Given the description of an element on the screen output the (x, y) to click on. 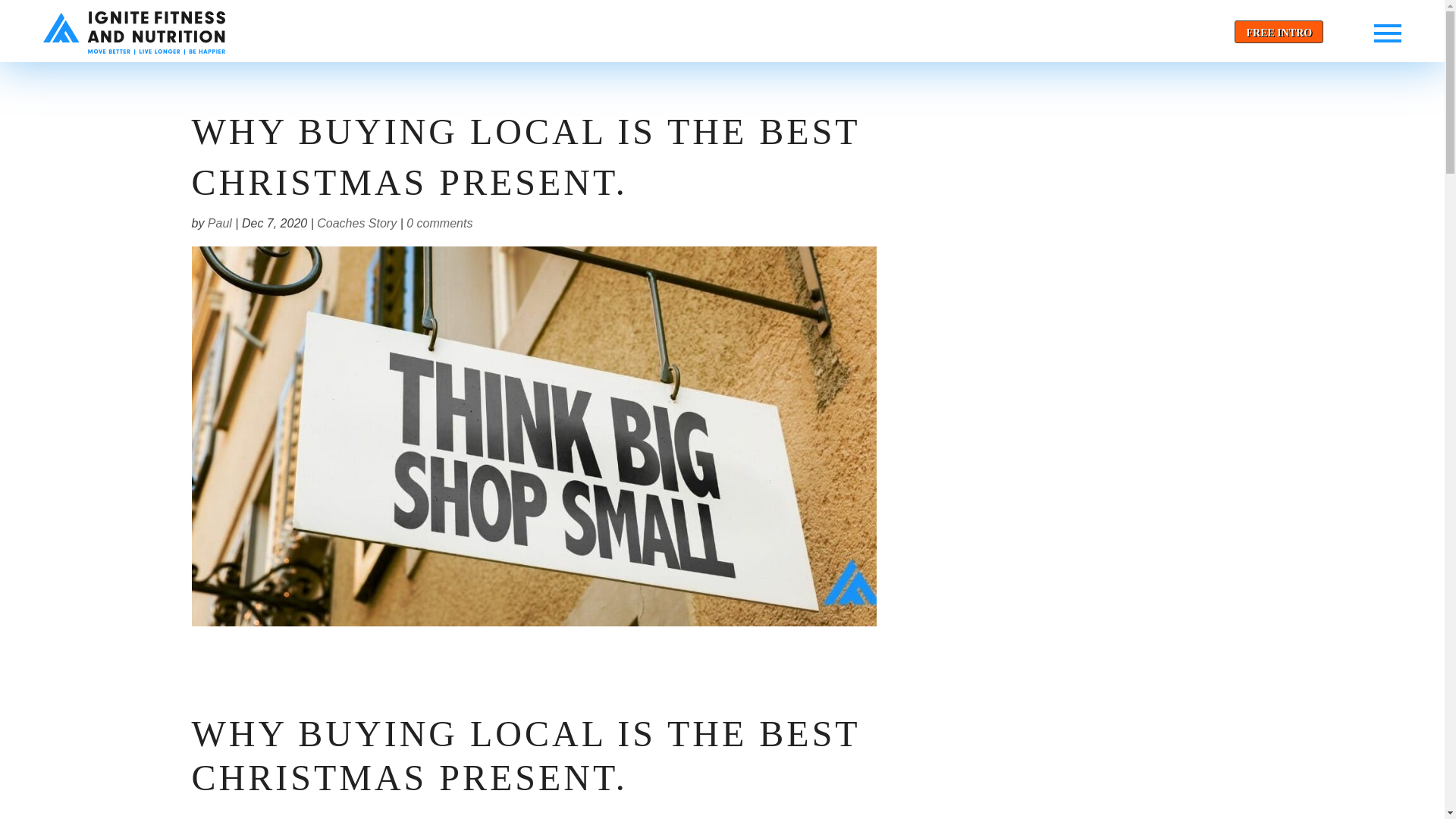
Asset 1 (134, 32)
Paul (219, 223)
Coaches Story (356, 223)
0 comments (438, 223)
Posts by Paul (219, 223)
FREE INTRO (1278, 31)
